Given the description of an element on the screen output the (x, y) to click on. 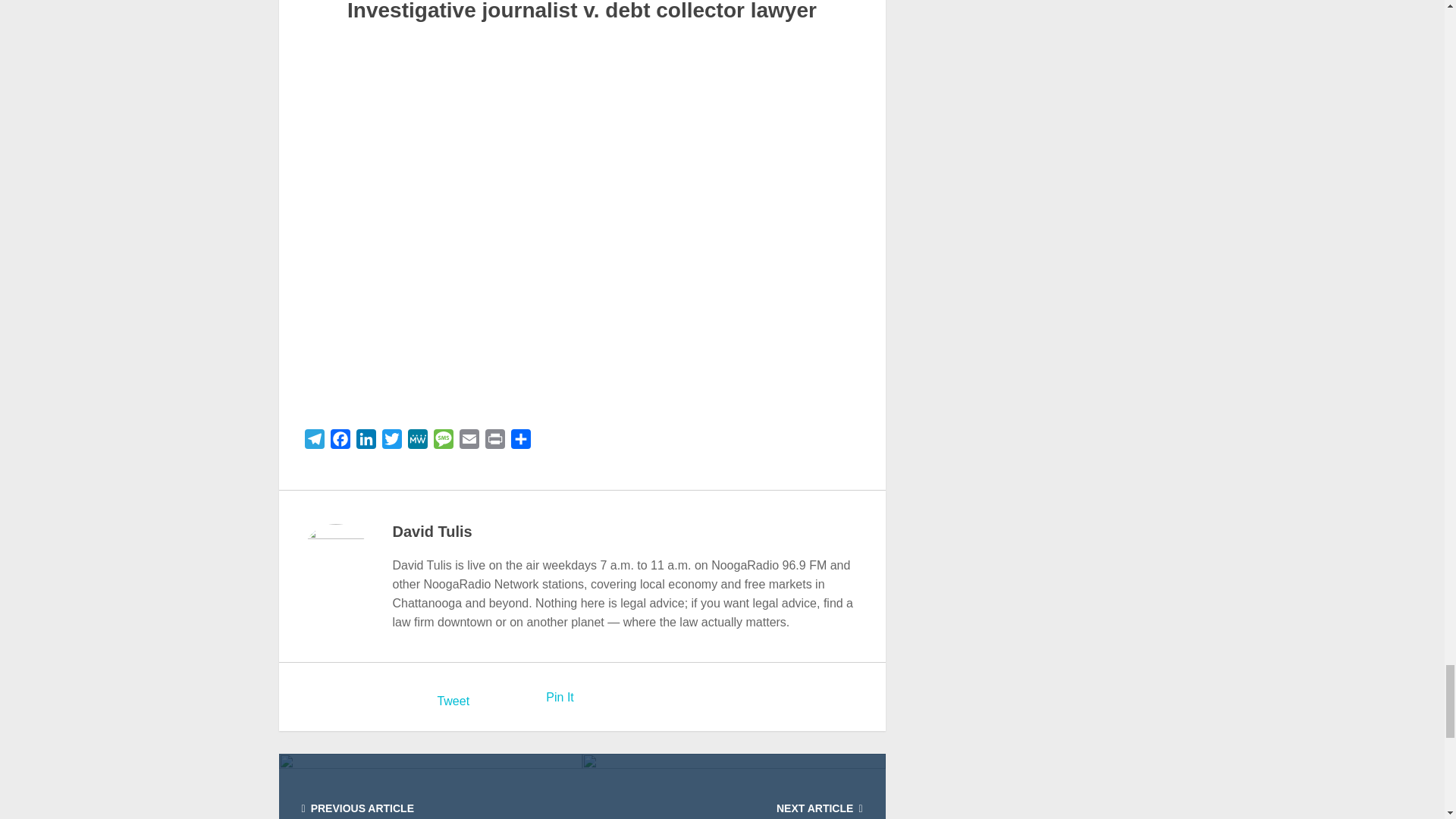
Twitter (391, 442)
MeWe (417, 442)
LinkedIn (365, 442)
Telegram (314, 442)
Message (443, 442)
Email (469, 442)
Telegram (314, 442)
Facebook (340, 442)
